Given the description of an element on the screen output the (x, y) to click on. 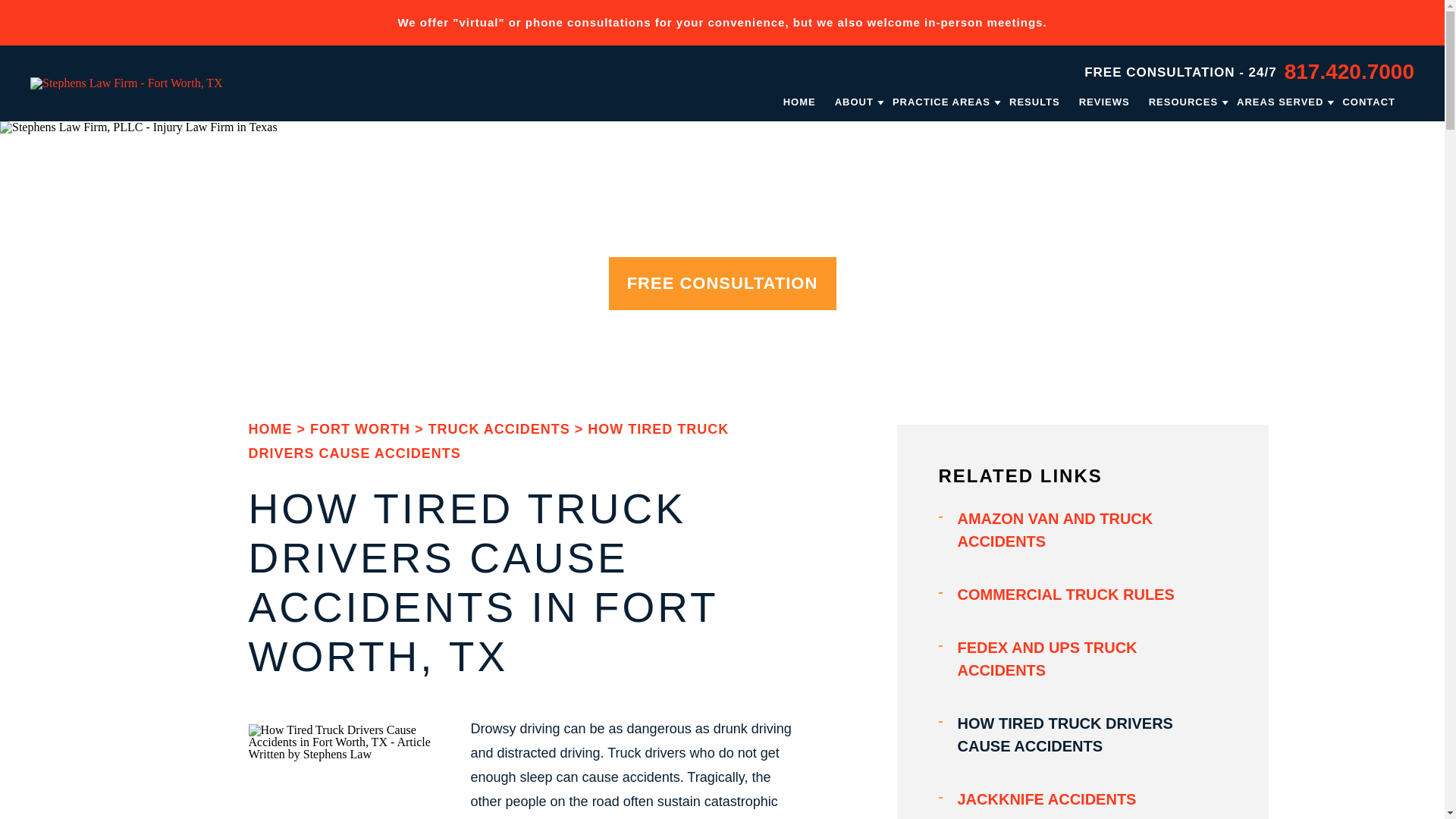
HOME (799, 102)
AREAS SERVED (1279, 102)
CONTACT (1368, 102)
RESOURCES (1182, 102)
FREE CONSULTATION (721, 282)
ABOUT (853, 102)
REVIEWS (1103, 102)
RESULTS (1034, 102)
PRACTICE AREAS (941, 102)
817.420.7000 (1348, 70)
